Given the description of an element on the screen output the (x, y) to click on. 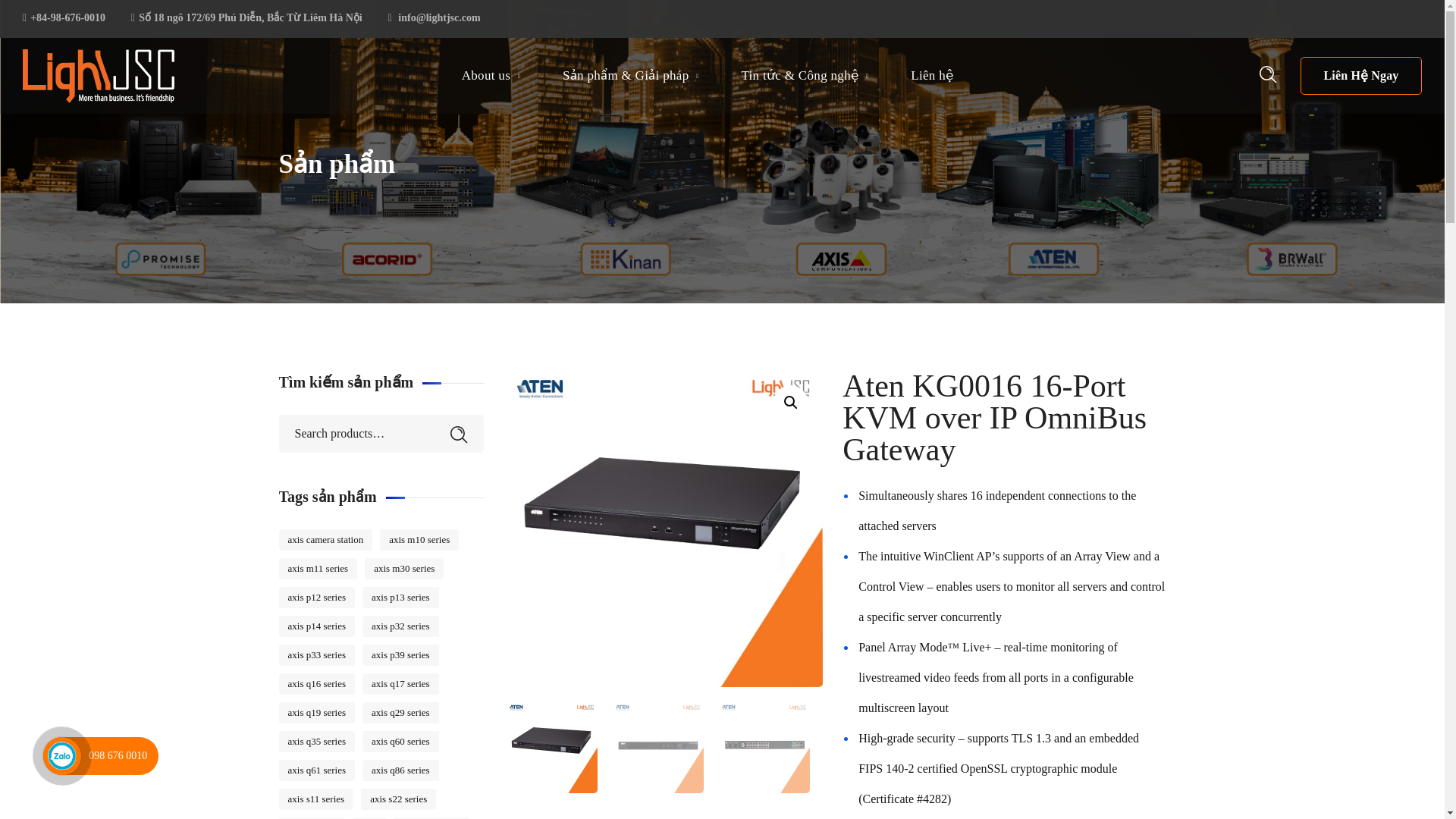
098 676 0010 (117, 755)
0016-1 (665, 528)
About us (491, 75)
